Given the description of an element on the screen output the (x, y) to click on. 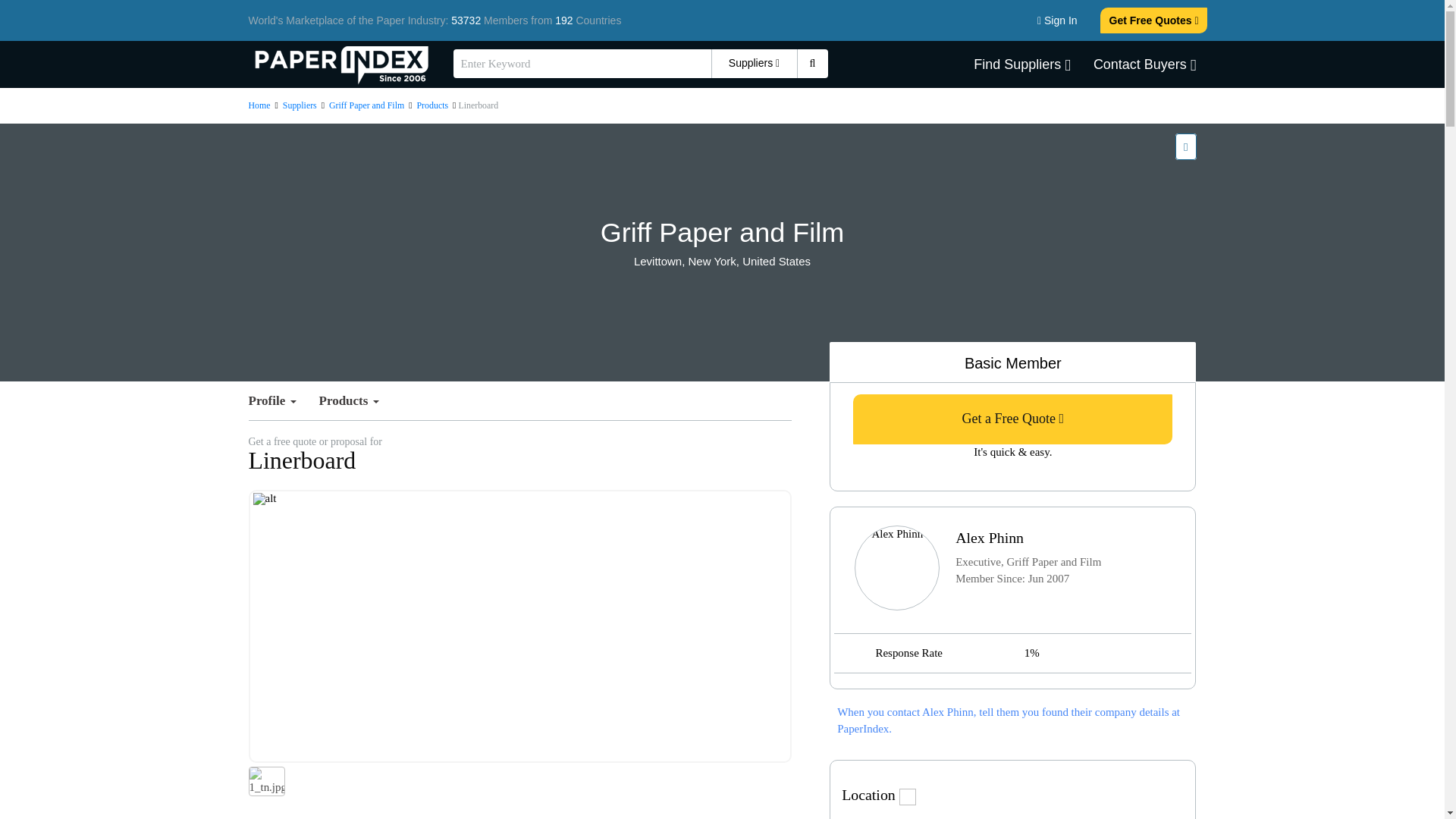
 Sign In (1056, 20)
Suppliers (299, 104)
Products (432, 104)
Suppliers (754, 63)
Find Suppliers (1021, 63)
Griff Paper and Film (366, 104)
Get Free Quotes (1154, 20)
Home (259, 104)
Contact Buyers (1144, 63)
